Given the description of an element on the screen output the (x, y) to click on. 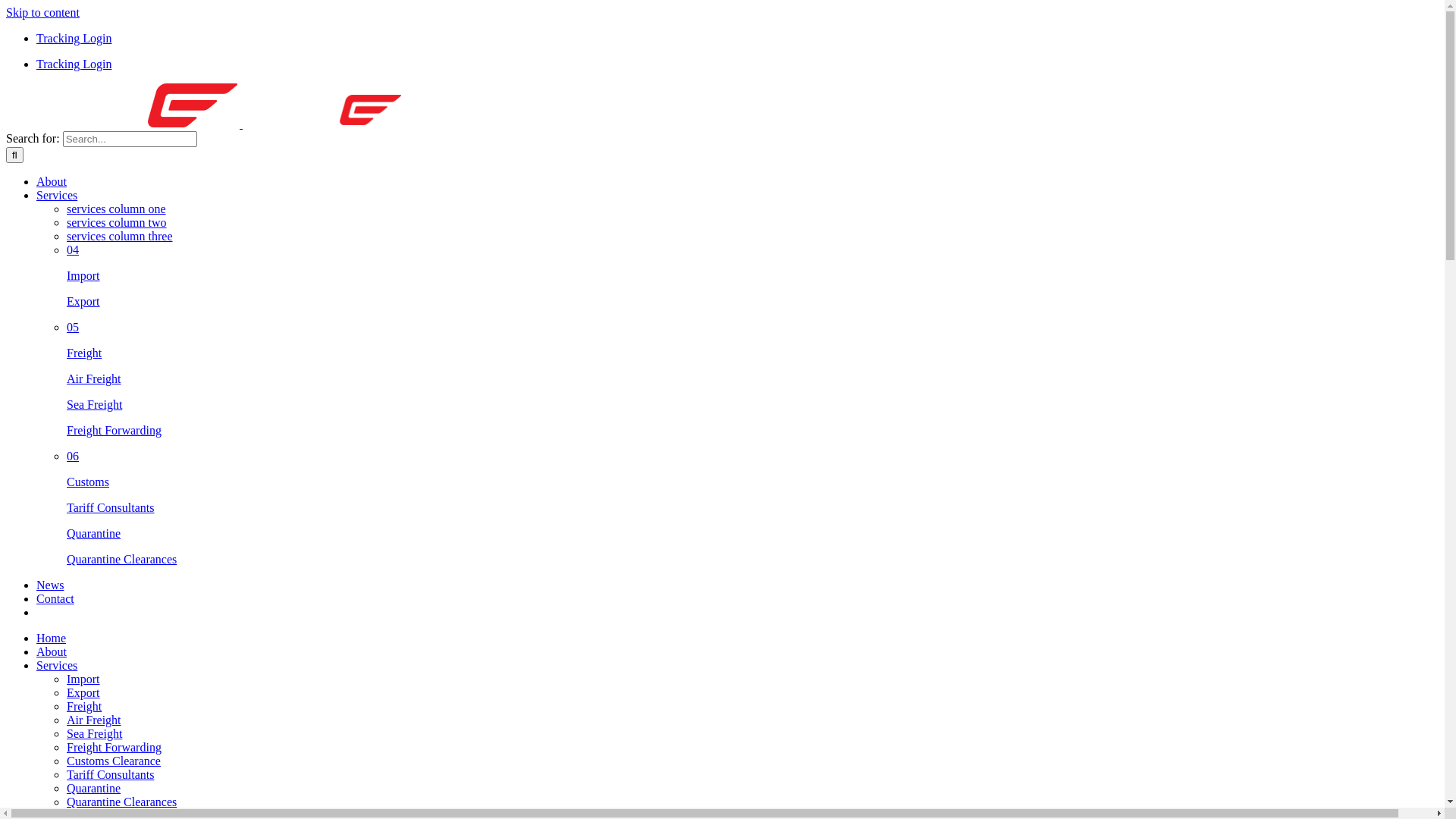
Quarantine Element type: text (93, 533)
Tariff Consultants Element type: text (109, 774)
Skip to content Element type: text (42, 12)
Quarantine Element type: text (93, 787)
Freight Element type: text (83, 705)
Tracking Login Element type: text (73, 37)
Quarantine Clearances Element type: text (121, 558)
Quarantine Clearances Element type: text (121, 801)
04 Element type: text (72, 249)
services column one Element type: text (116, 208)
About Element type: text (51, 181)
services column three Element type: text (119, 235)
Home Element type: text (50, 637)
Export Element type: text (83, 692)
Freight Forwarding Element type: text (113, 429)
News Element type: text (49, 584)
Air Freight Element type: text (93, 378)
Contact Element type: text (55, 598)
Services Element type: text (56, 664)
05 Element type: text (72, 326)
About Element type: text (51, 651)
services column two Element type: text (116, 222)
Tracking Login Element type: text (73, 63)
Air Freight Element type: text (93, 719)
Freight Forwarding Element type: text (113, 746)
Export Element type: text (83, 300)
Freight Element type: text (83, 352)
Customs Element type: text (87, 481)
Sea Freight Element type: text (94, 404)
Import Element type: text (83, 678)
Services Element type: text (56, 194)
Import Element type: text (83, 275)
Sea Freight Element type: text (94, 733)
Tariff Consultants Element type: text (109, 507)
Customs Clearance Element type: text (113, 760)
06 Element type: text (72, 455)
